Given the description of an element on the screen output the (x, y) to click on. 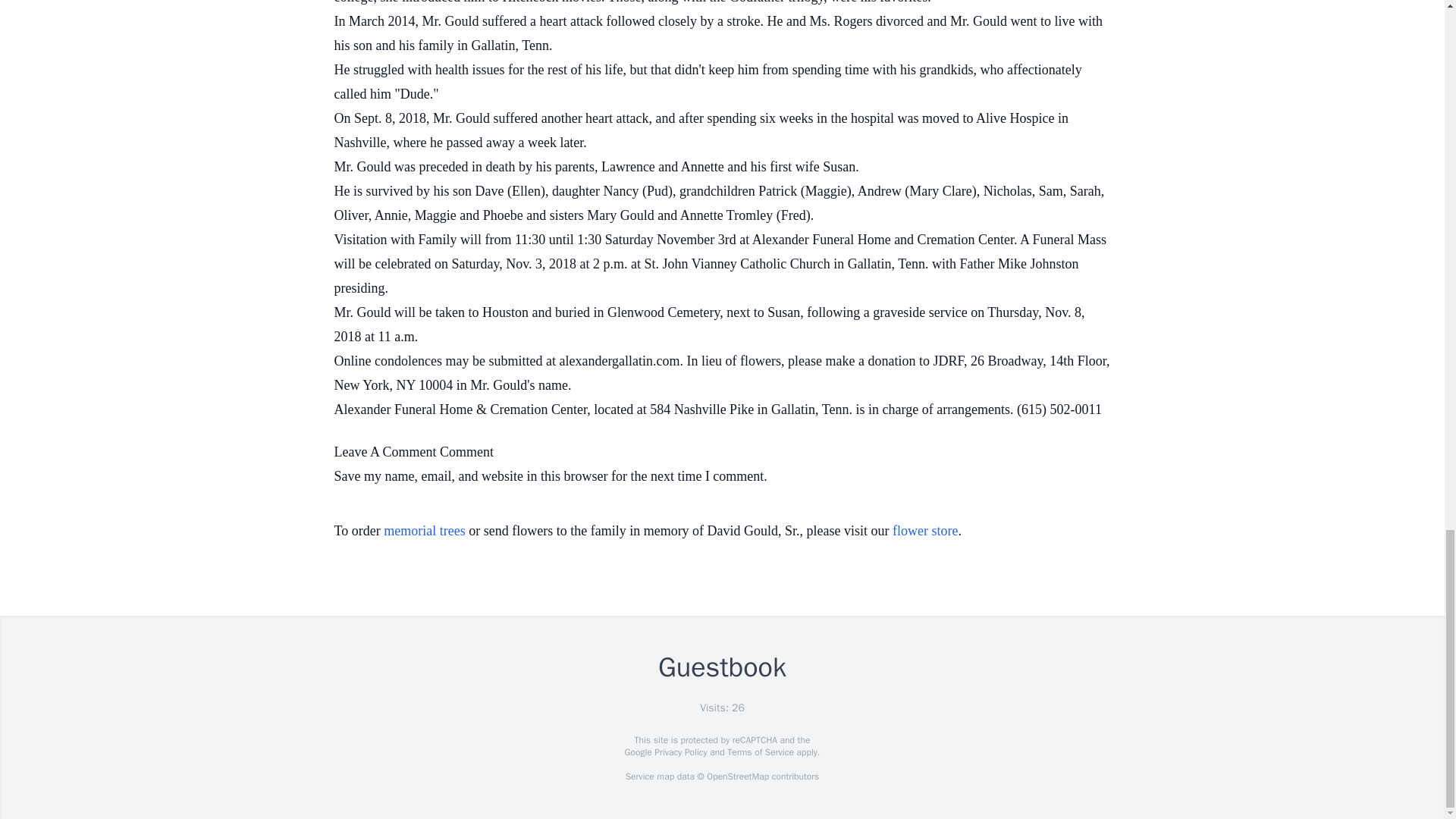
Terms of Service (759, 752)
flower store (925, 530)
Privacy Policy (679, 752)
OpenStreetMap (737, 776)
memorial trees (424, 530)
